Given the description of an element on the screen output the (x, y) to click on. 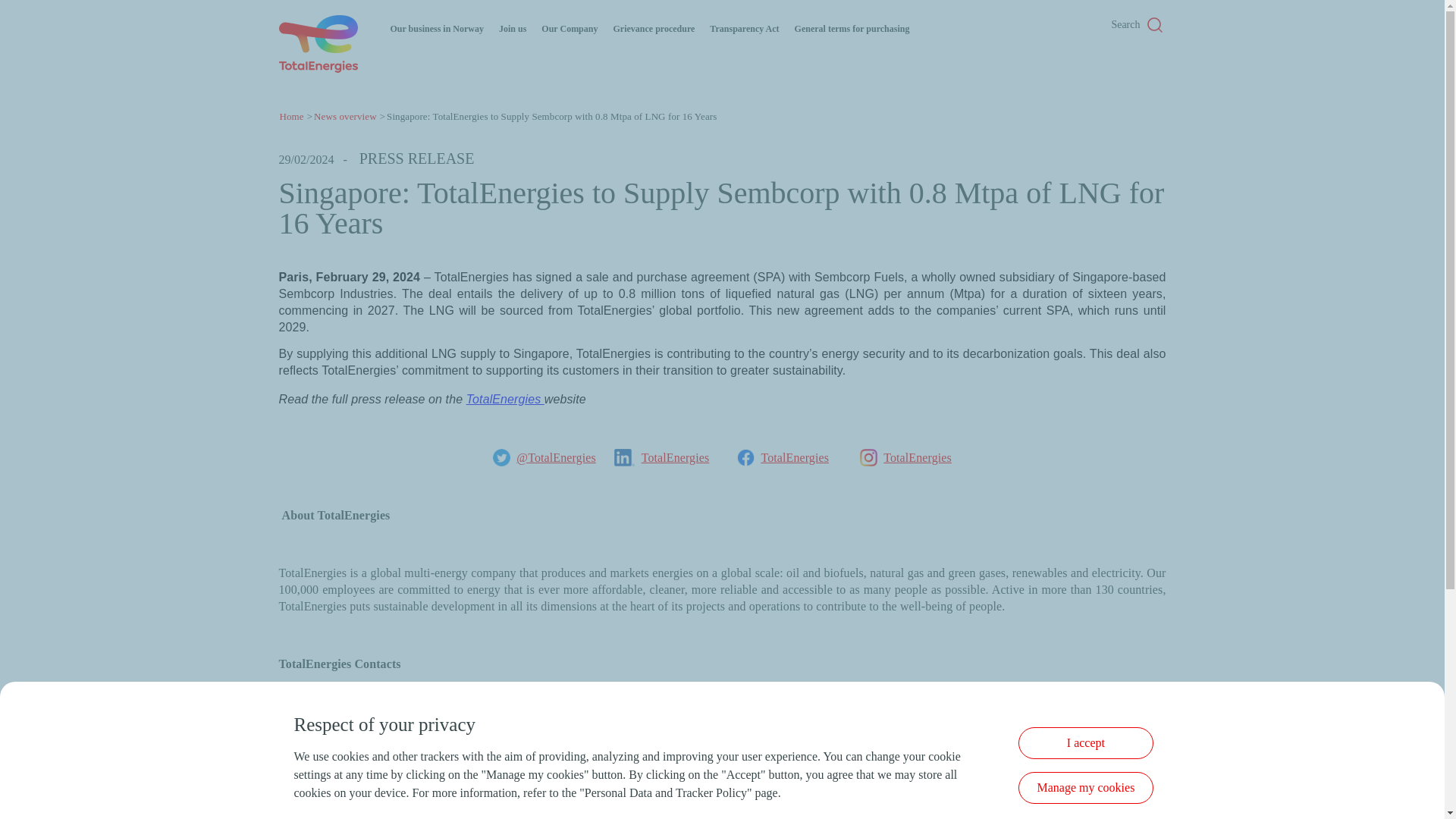
TotalEnergies (917, 457)
Transparency Act (744, 28)
Our Company (568, 28)
Home (290, 116)
Our business in Norway (436, 28)
Grievance procedure (653, 28)
TotalEnergies (794, 457)
Join us (512, 28)
News overview (345, 116)
TotalEnergies (676, 457)
General terms for purchasing (852, 28)
TotalEnergies (504, 399)
Search (1125, 25)
